Given the description of an element on the screen output the (x, y) to click on. 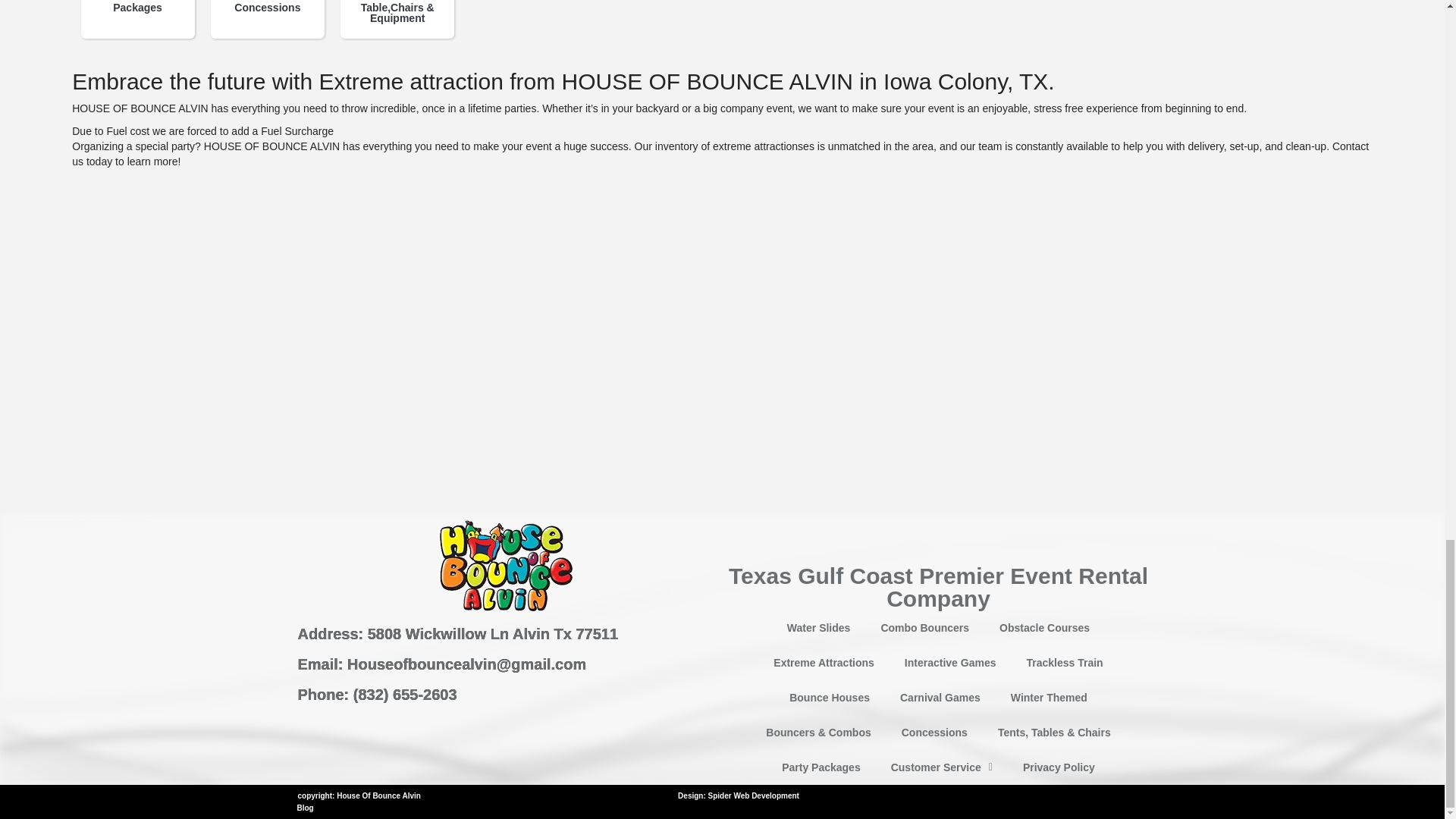
Packages (137, 1)
Concessions (267, 1)
